Given the description of an element on the screen output the (x, y) to click on. 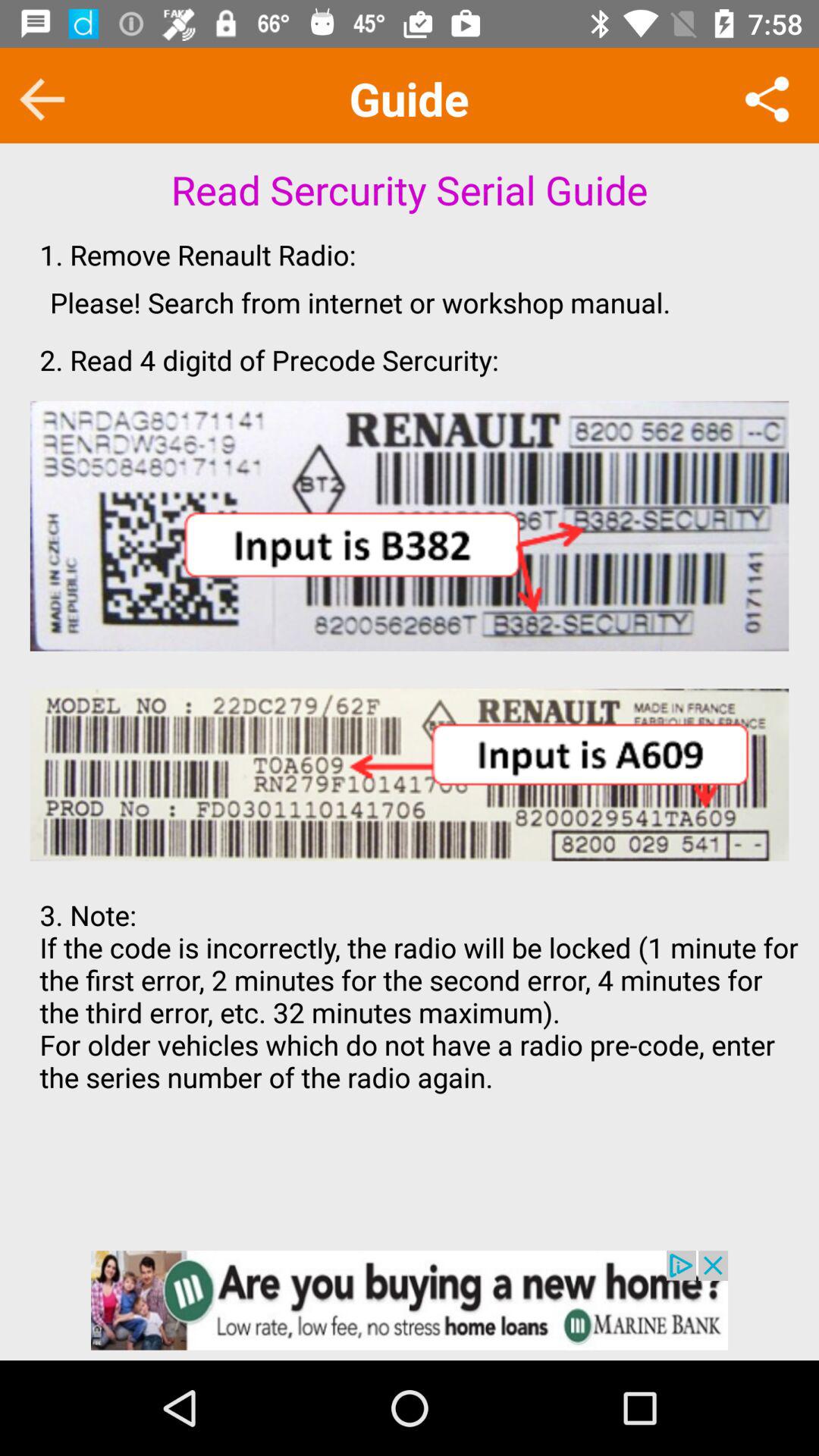
advertisement page (409, 1300)
